Given the description of an element on the screen output the (x, y) to click on. 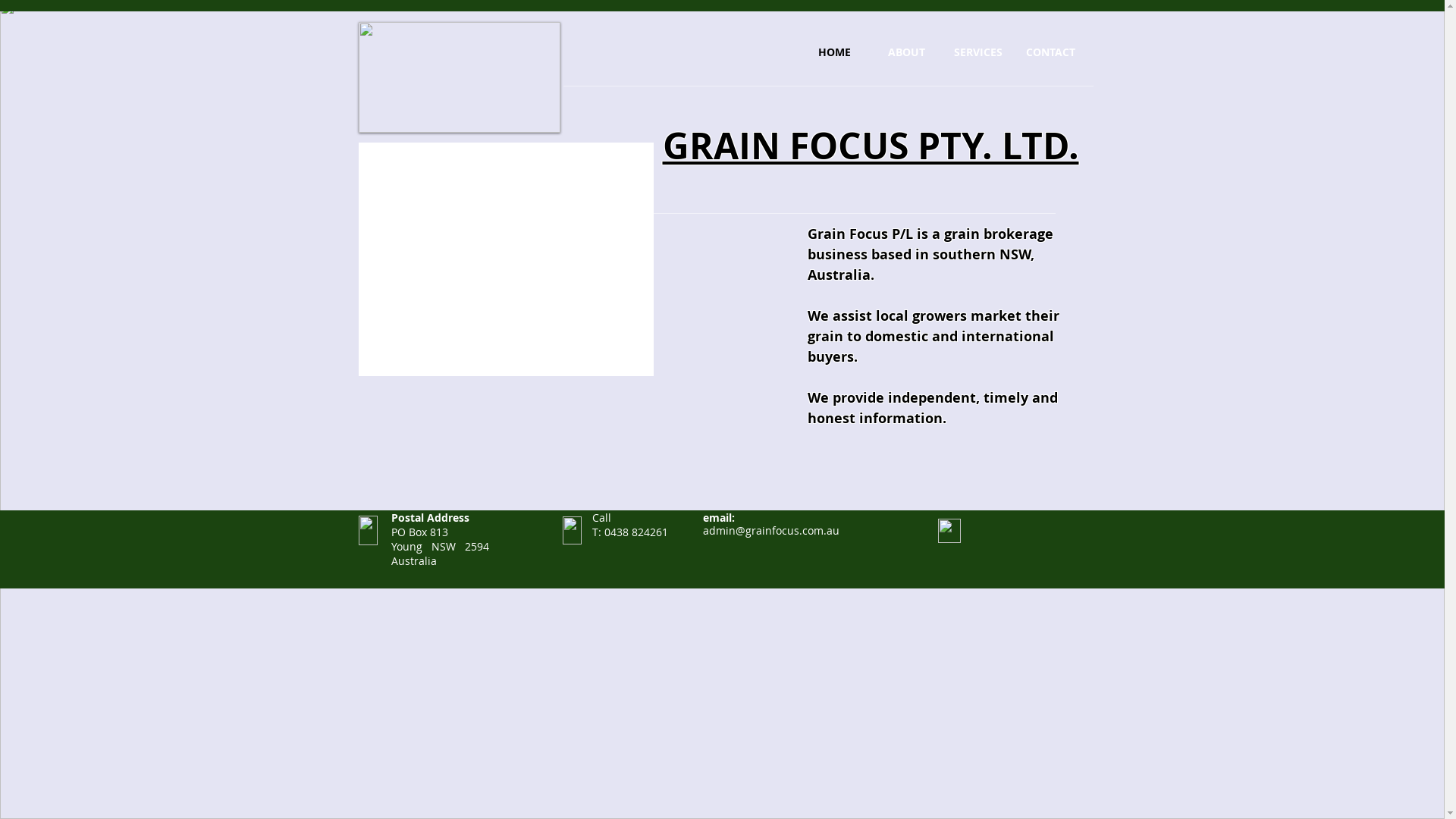
CONTACT Element type: text (1050, 51)
HOME Element type: text (833, 51)
ABOUT Element type: text (906, 51)
SERVICES Element type: text (977, 51)
admin@grainfocus.com.au Element type: text (770, 530)
